Given the description of an element on the screen output the (x, y) to click on. 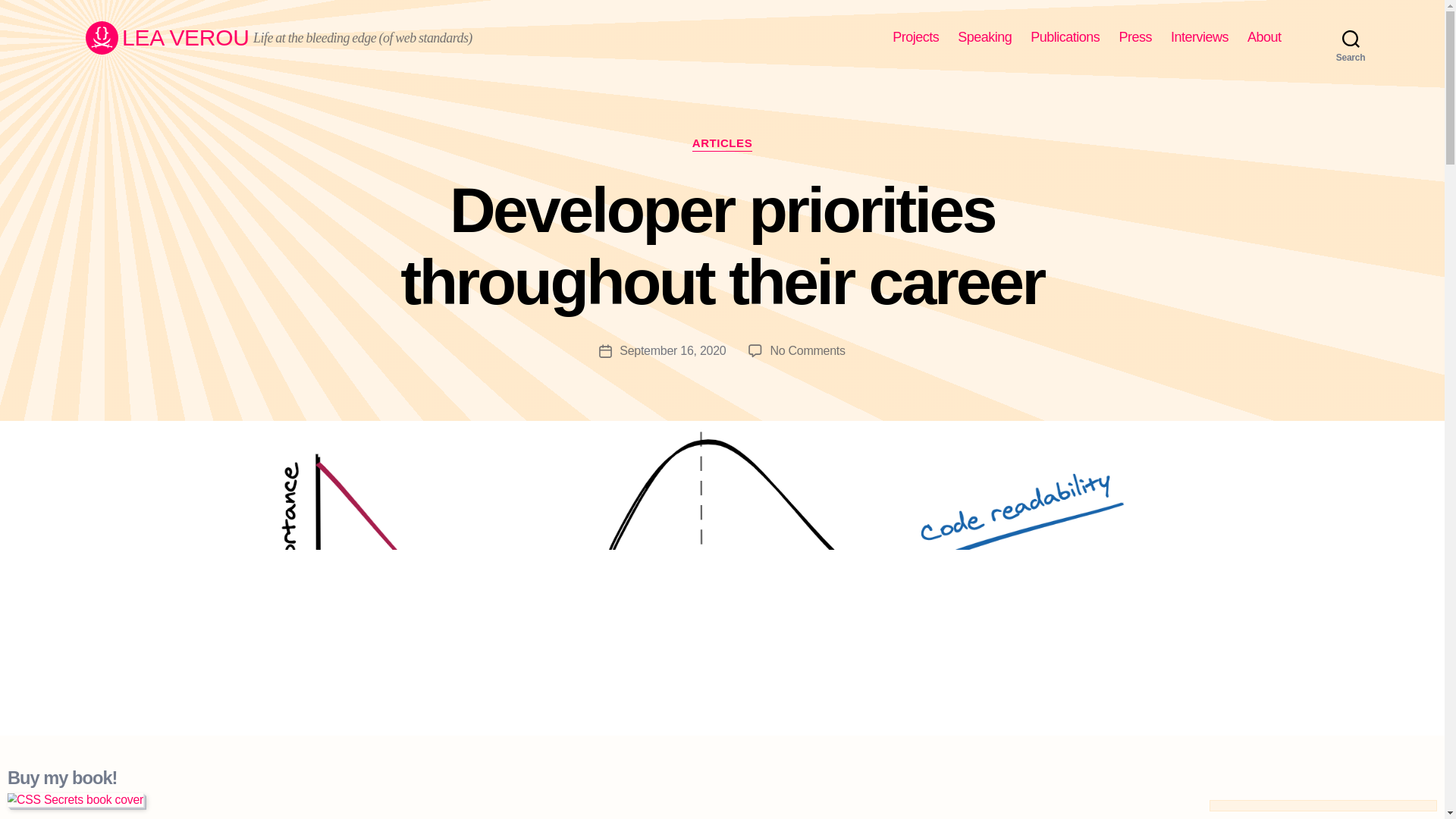
LEA VEROU (166, 37)
ARTICLES (722, 143)
Projects (807, 350)
About (915, 37)
September 16, 2020 (1264, 37)
Publications (672, 350)
Interviews (1064, 37)
Speaking (1199, 37)
Press (984, 37)
